Given the description of an element on the screen output the (x, y) to click on. 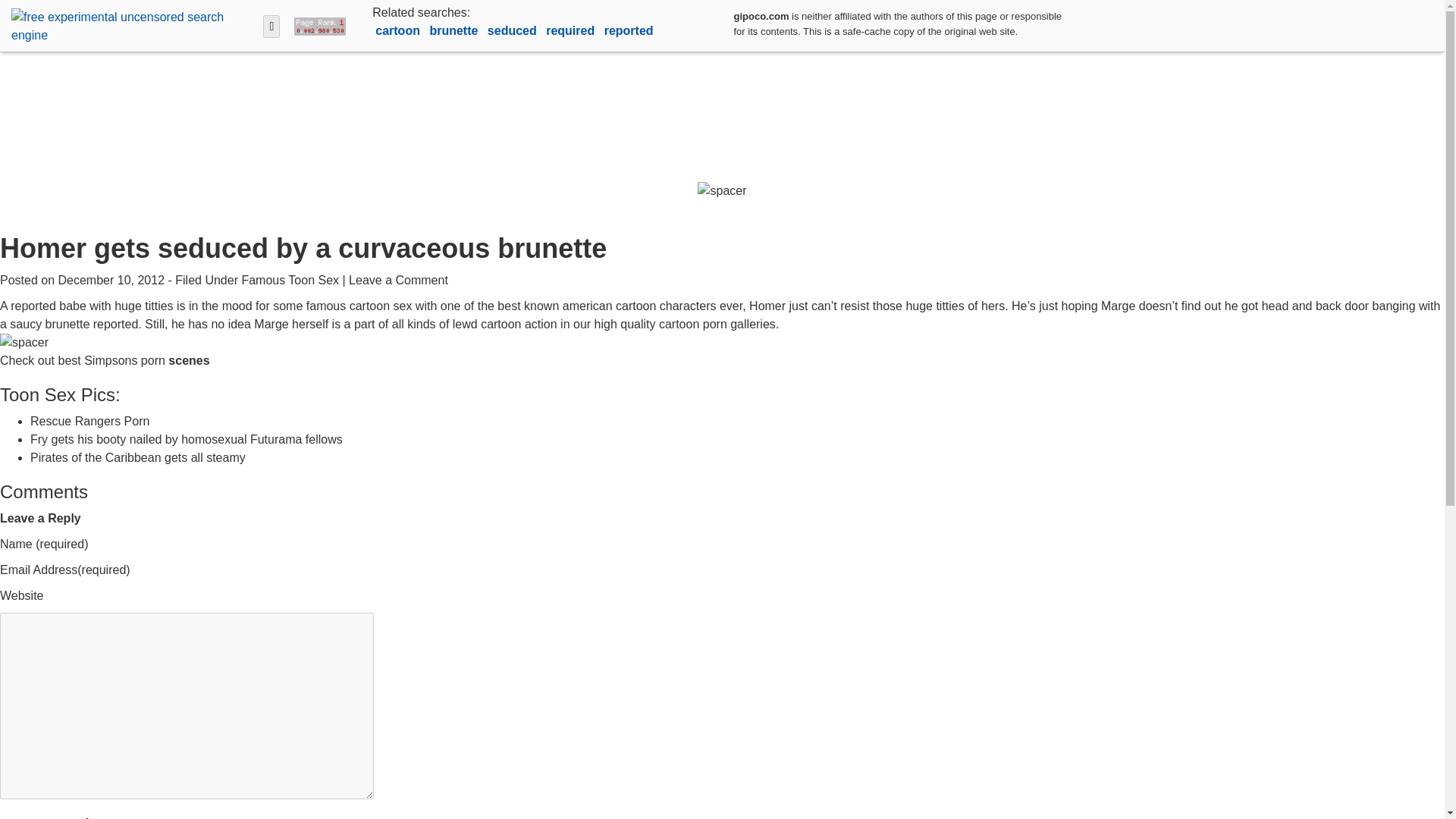
required (571, 30)
reported (628, 30)
Homer-seduced-brunette cartoon (24, 342)
brunette (454, 30)
required (571, 30)
seduced (513, 30)
seduced (513, 30)
free experimental uncensored search engine - home page (130, 24)
view page-rank and visitors counter and free website stats (316, 24)
brunette (454, 30)
cartoon (399, 30)
cartoon (399, 30)
reported (628, 30)
